Given the description of an element on the screen output the (x, y) to click on. 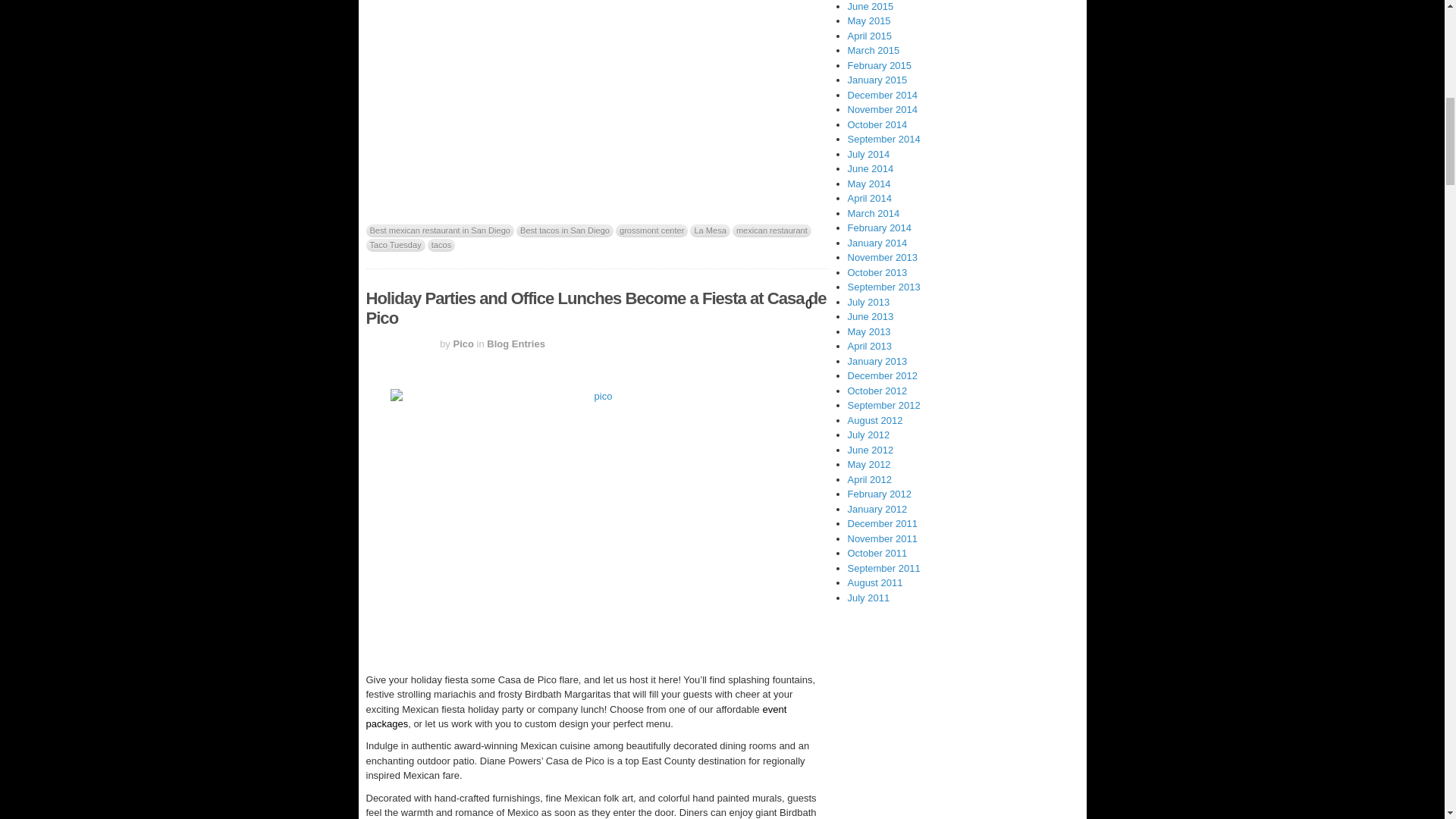
event packages (575, 716)
0 (809, 308)
Best tacos in San Diego (564, 230)
Blog Entries (515, 343)
grossmont center (651, 230)
Best mexican restaurant in San Diego (439, 230)
Pico (462, 343)
mexican restaurant (771, 230)
La Mesa (709, 230)
tacos (441, 245)
Posts by Pico (462, 343)
Taco Tuesday (395, 245)
